Given the description of an element on the screen output the (x, y) to click on. 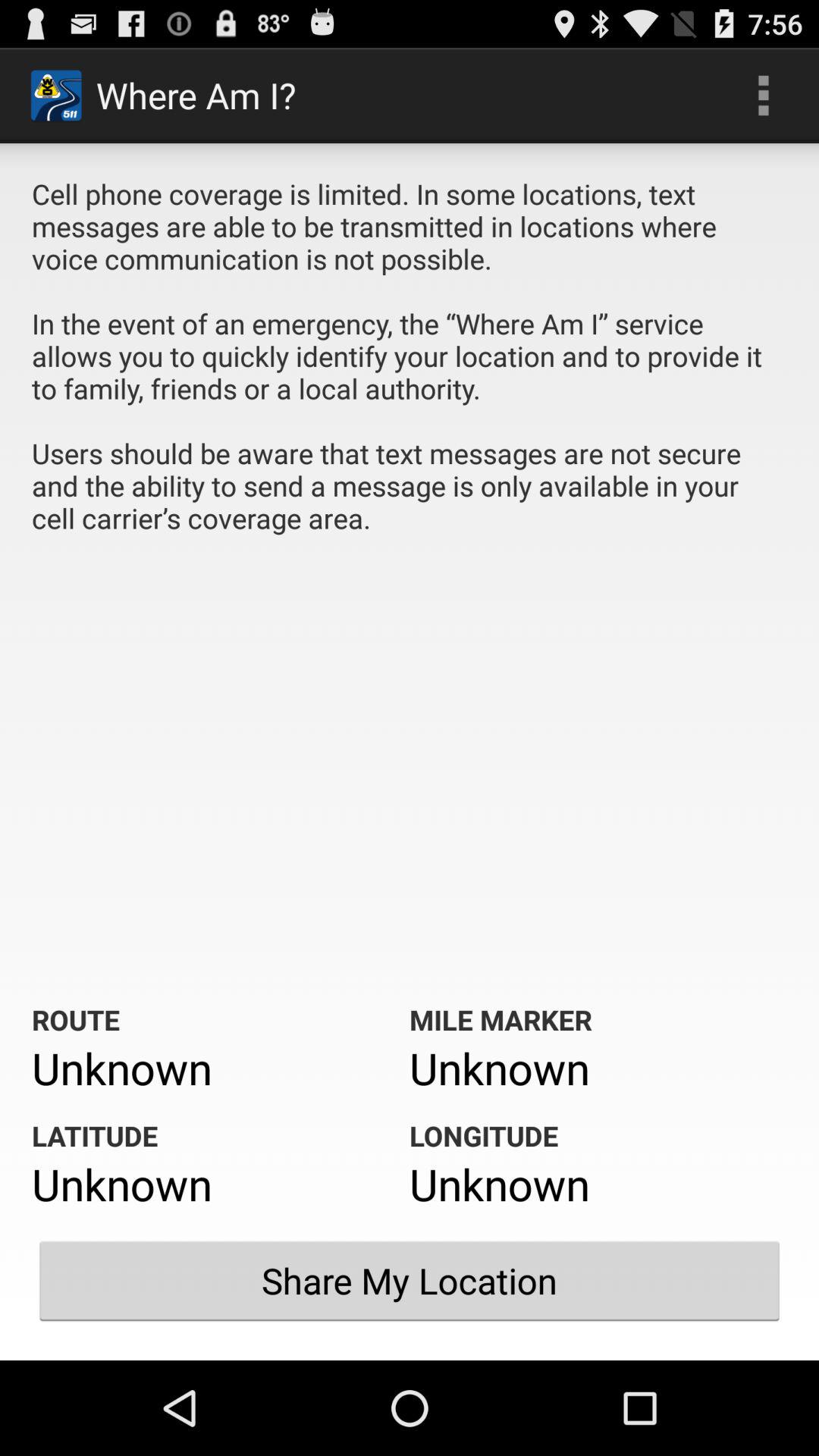
click icon at the top right corner (763, 95)
